Given the description of an element on the screen output the (x, y) to click on. 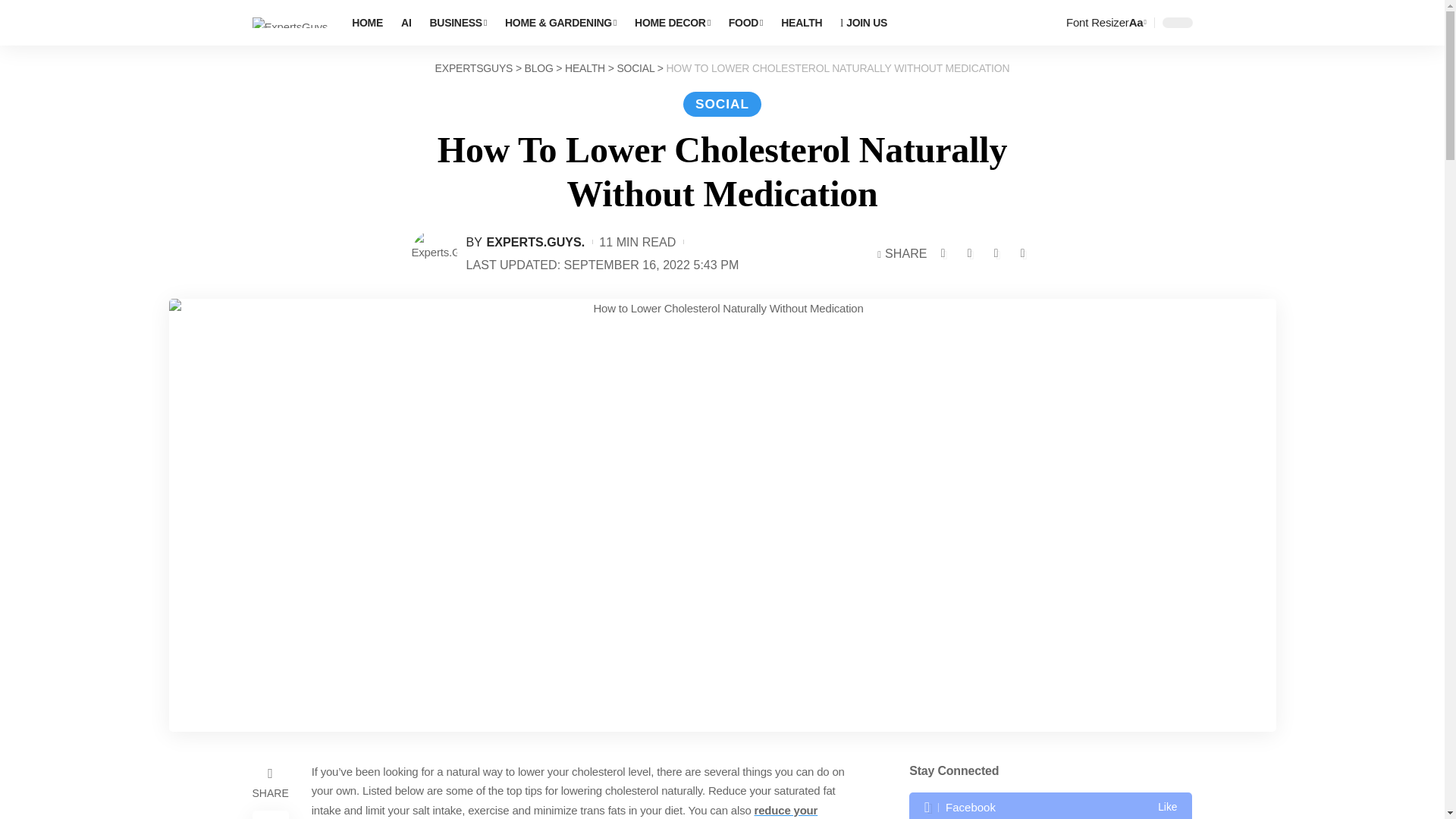
HOME (366, 22)
BUSINESS (458, 22)
ExpertsGuys (289, 22)
HOME DECOR (672, 22)
